Given the description of an element on the screen output the (x, y) to click on. 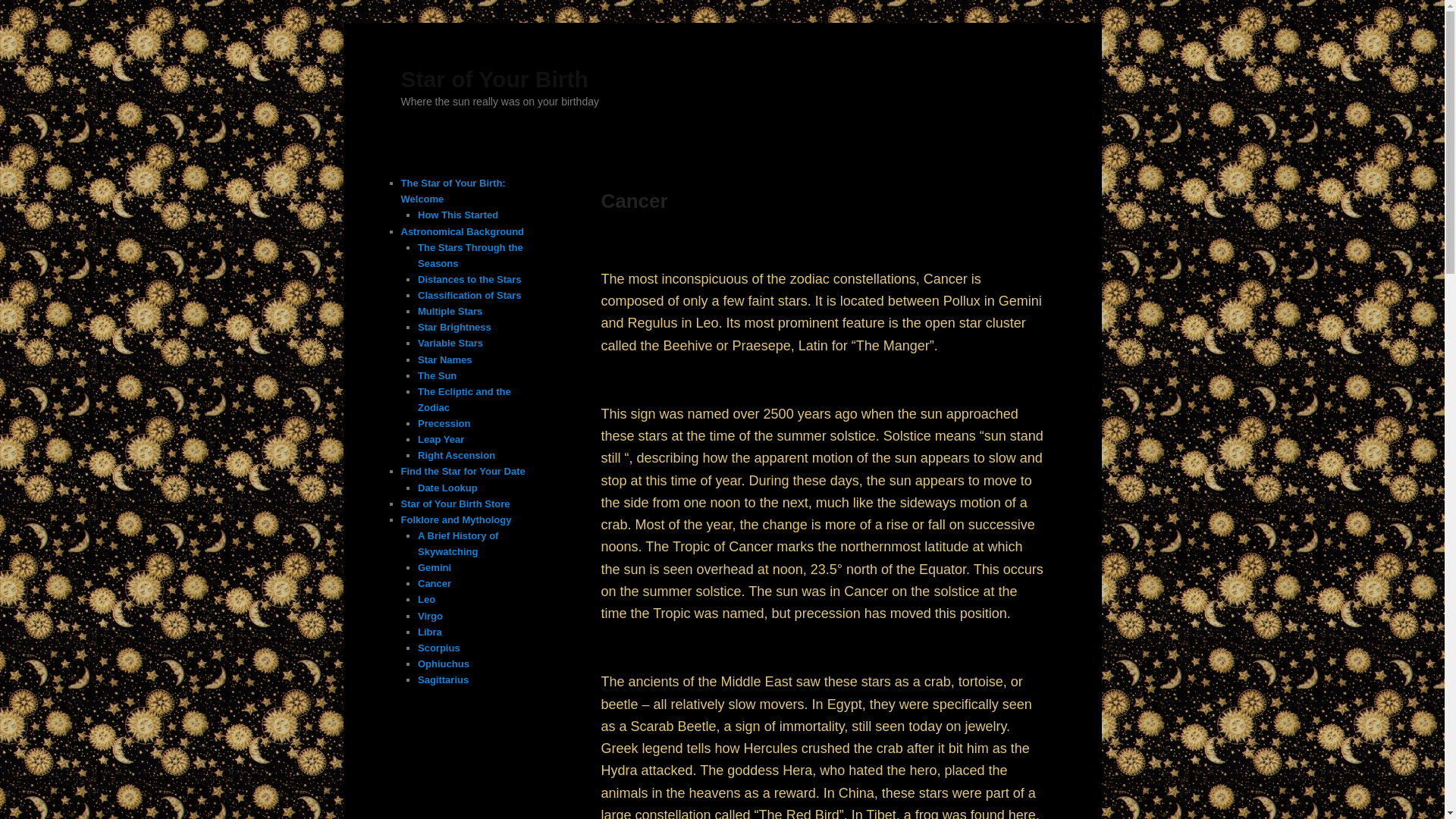
Astronomical Background (462, 231)
Star of Your Birth (494, 78)
Star of Your Birth (494, 78)
How This Started (457, 214)
The Star of Your Birth: Welcome (452, 190)
The Stars Through the Seasons (469, 255)
